Given the description of an element on the screen output the (x, y) to click on. 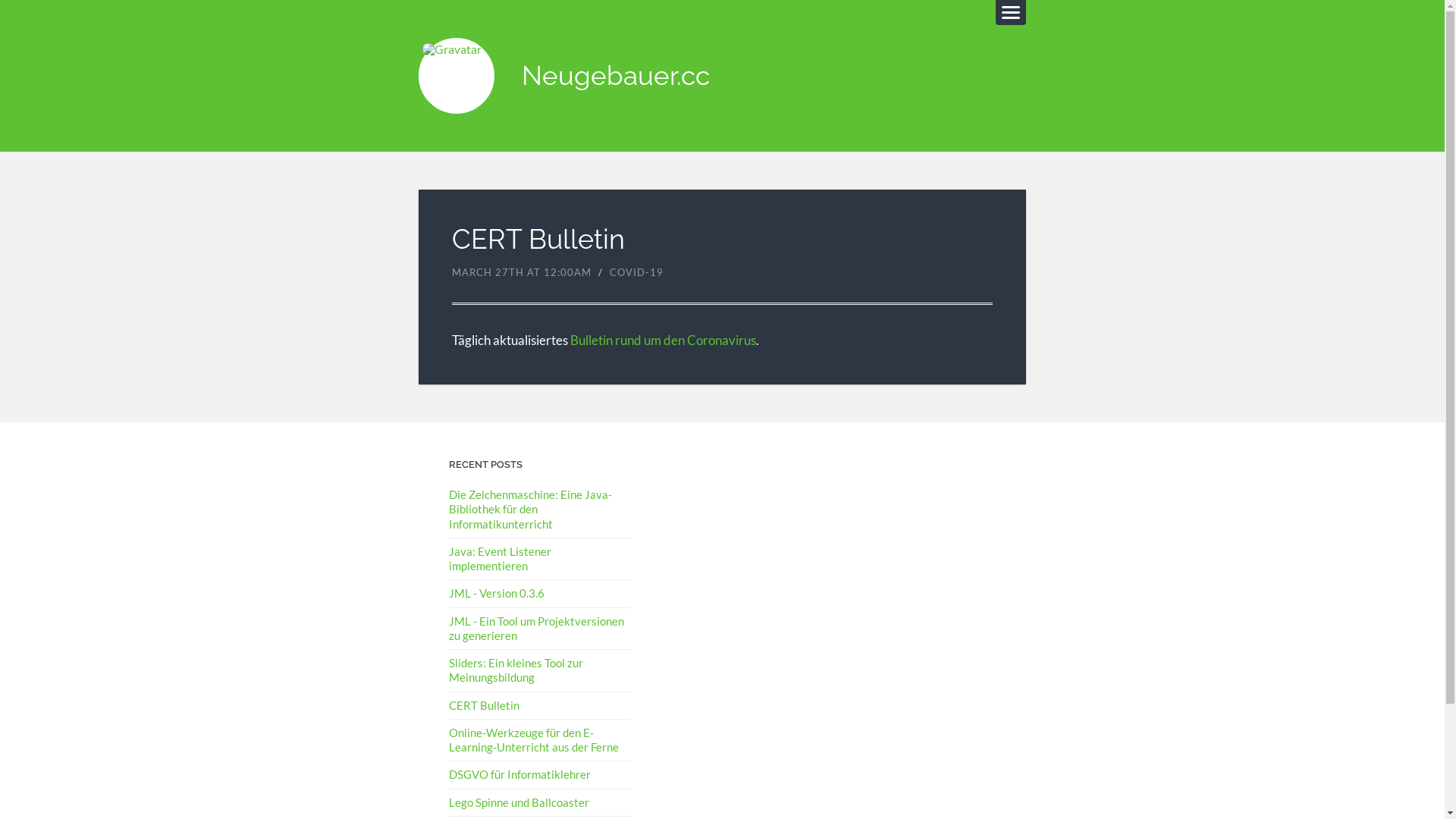
Lego Spinne und Ballcoaster Element type: text (518, 801)
JML - Version 0.3.6 Element type: text (496, 592)
Java: Event Listener implementieren Element type: text (499, 557)
Neugebauer.cc Element type: hover (456, 75)
Neugebauer.cc Element type: text (615, 75)
CERT Bulletin Element type: text (483, 704)
Sliders: Ein kleines Tool zur Meinungsbildung Element type: text (515, 669)
COVID-19 Element type: text (635, 271)
CERT Bulletin Element type: text (537, 238)
Bulletin rund um den Coronavirus Element type: text (662, 339)
JML - Ein Tool um Projektversionen zu generieren Element type: text (536, 627)
